Given the description of an element on the screen output the (x, y) to click on. 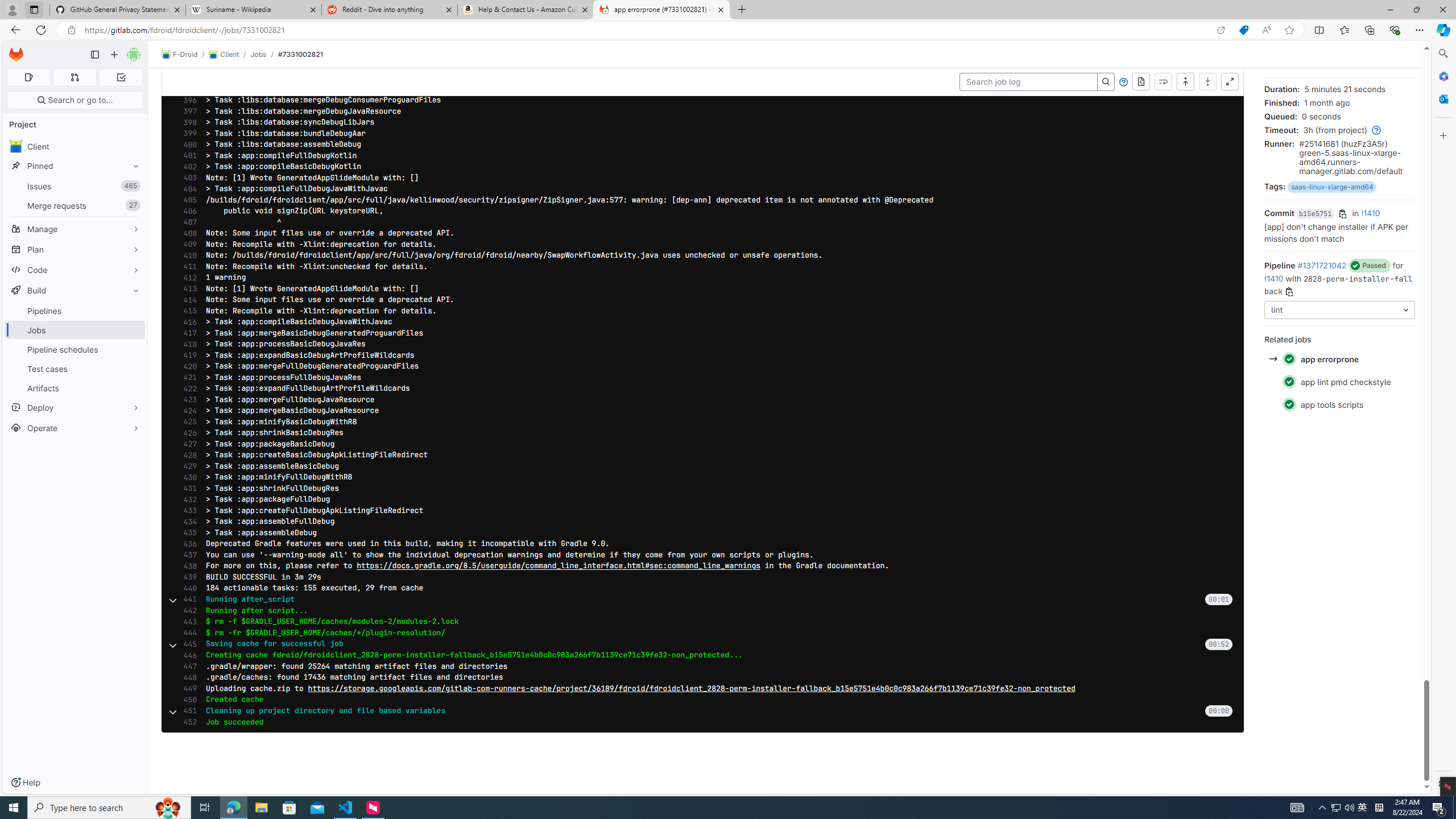
417 (186, 333)
Pin Pipeline schedules (132, 349)
Scroll to top (1184, 81)
Copy commit SHA (1342, 213)
411 (186, 266)
Merge requests 0 (74, 76)
440 (186, 588)
Build (74, 289)
Pin Artifacts (132, 387)
418 (186, 344)
393 (186, 66)
